Given the description of an element on the screen output the (x, y) to click on. 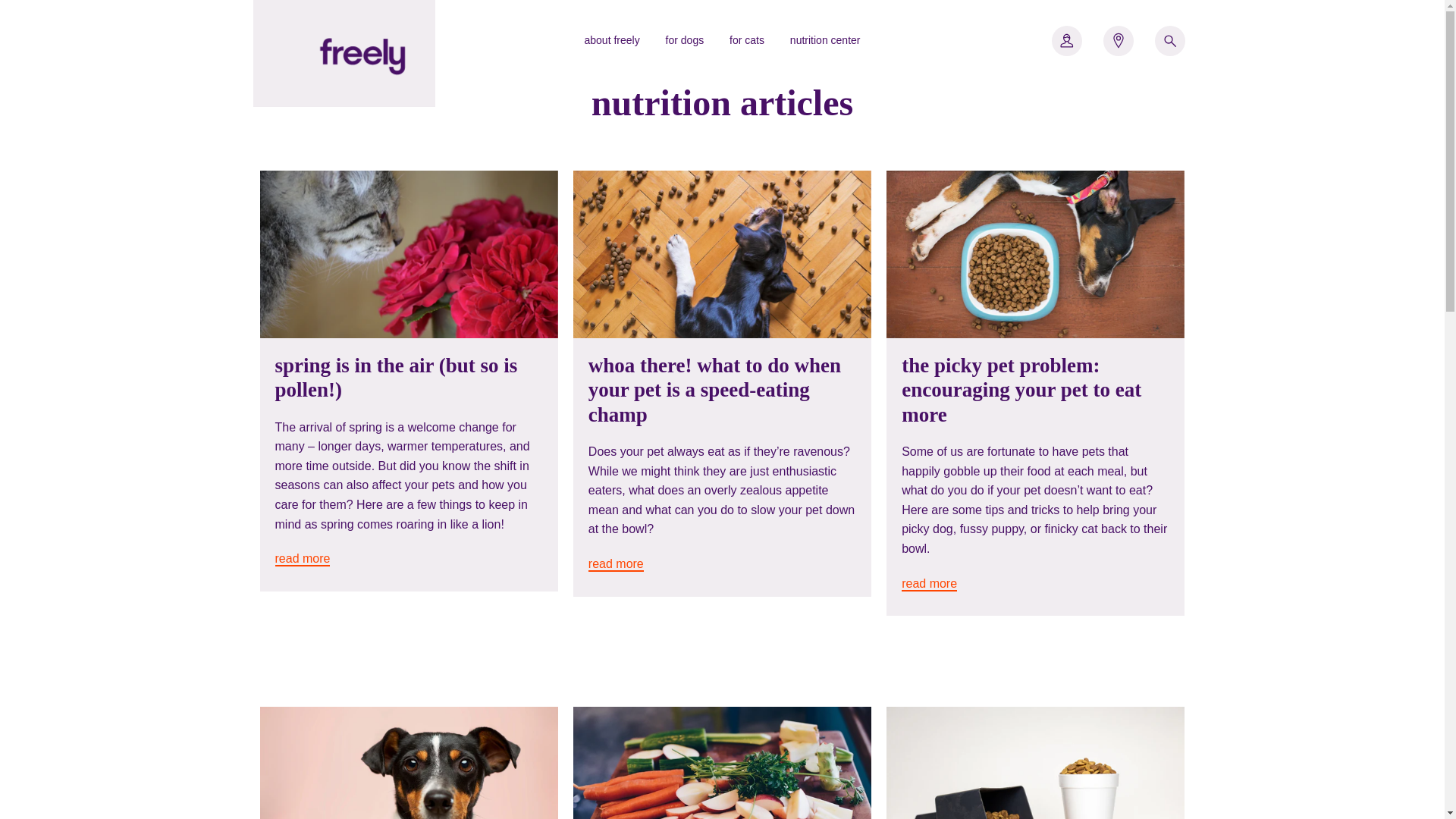
read more (302, 559)
whoa there! what to do when your pet is a speed-eating champ (714, 389)
Log in (1066, 40)
read more (928, 584)
read more (615, 564)
the picky pet problem: encouraging your pet to eat more (1021, 389)
nutrition center (825, 40)
Search (1168, 40)
Where to Buy (1118, 40)
for dogs (684, 40)
about freely (611, 40)
for cats (746, 40)
